Given the description of an element on the screen output the (x, y) to click on. 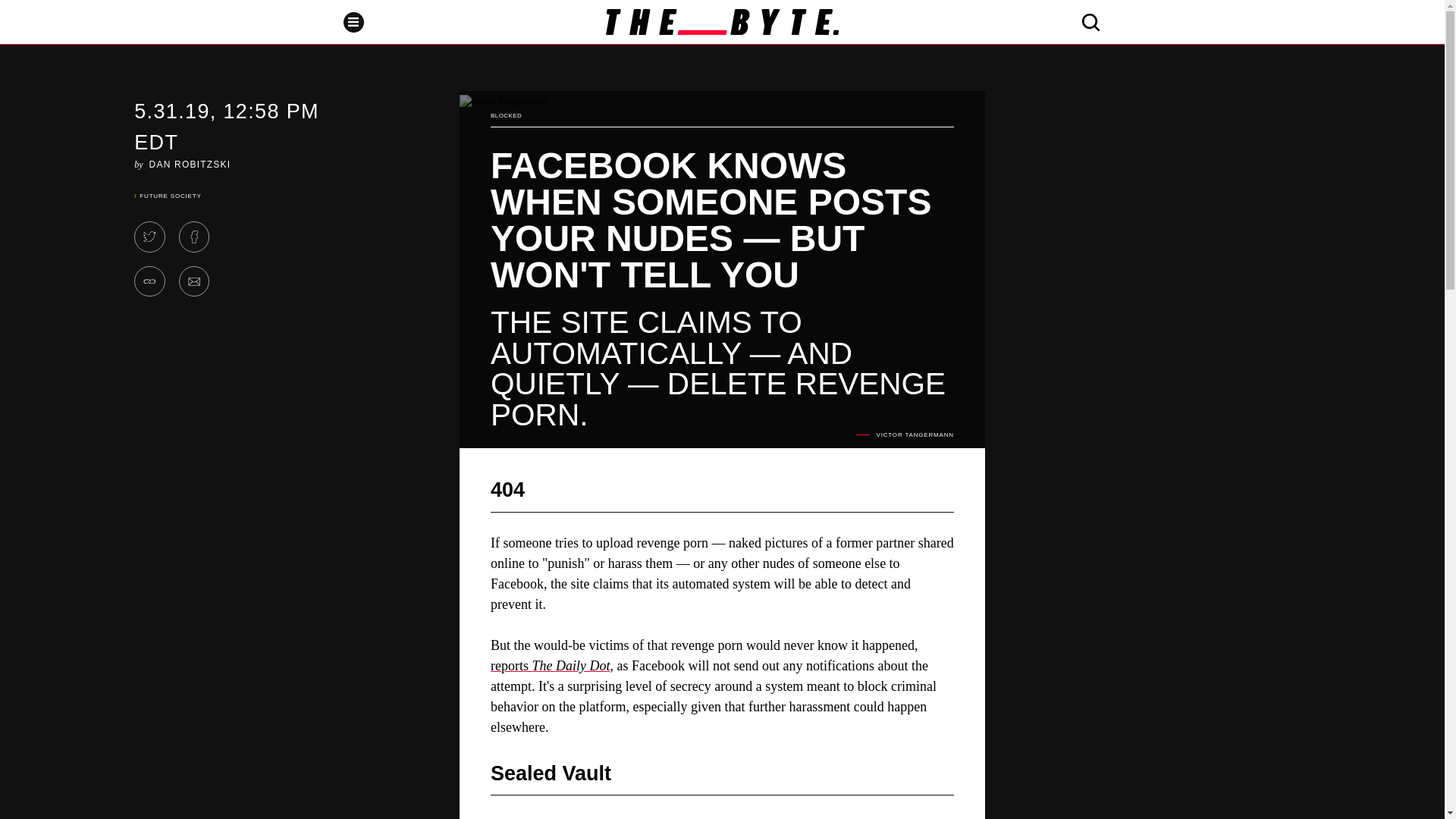
Tweet This (149, 236)
Share via Email (194, 281)
Dan Robitzski (190, 163)
FUTURE SOCIETY (169, 195)
The Byte (722, 22)
DAN ROBITZSKI (190, 163)
Copy Link (149, 281)
reports The Daily Dot (550, 665)
Future Society (169, 195)
